Given the description of an element on the screen output the (x, y) to click on. 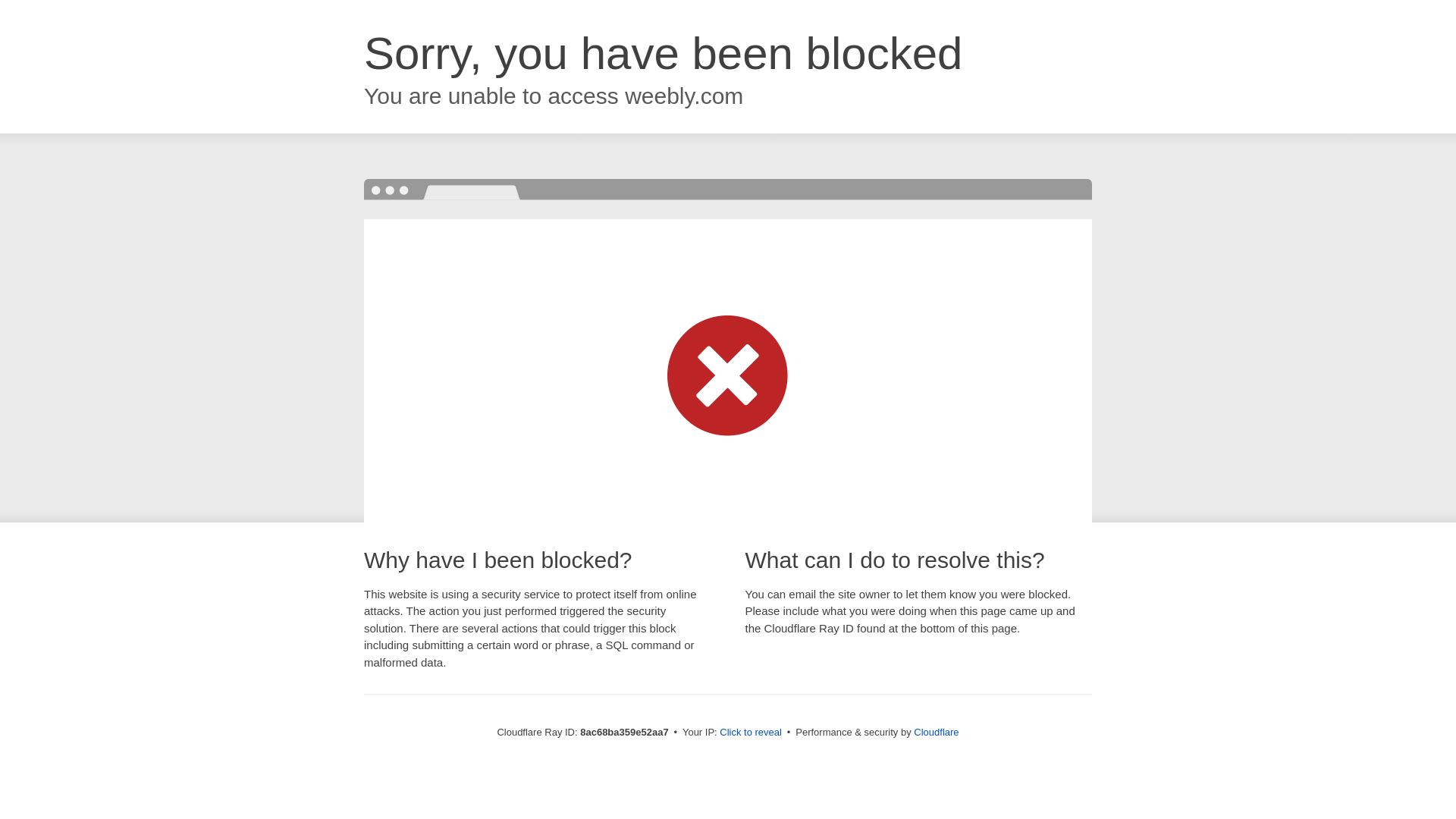
Cloudflare (936, 731)
Click to reveal (750, 732)
